Given the description of an element on the screen output the (x, y) to click on. 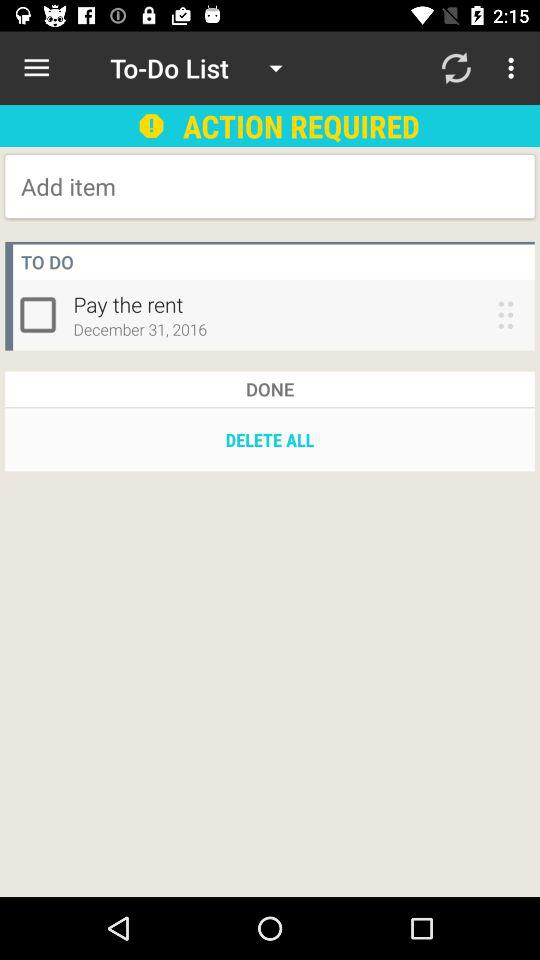
task check box (41, 314)
